Given the description of an element on the screen output the (x, y) to click on. 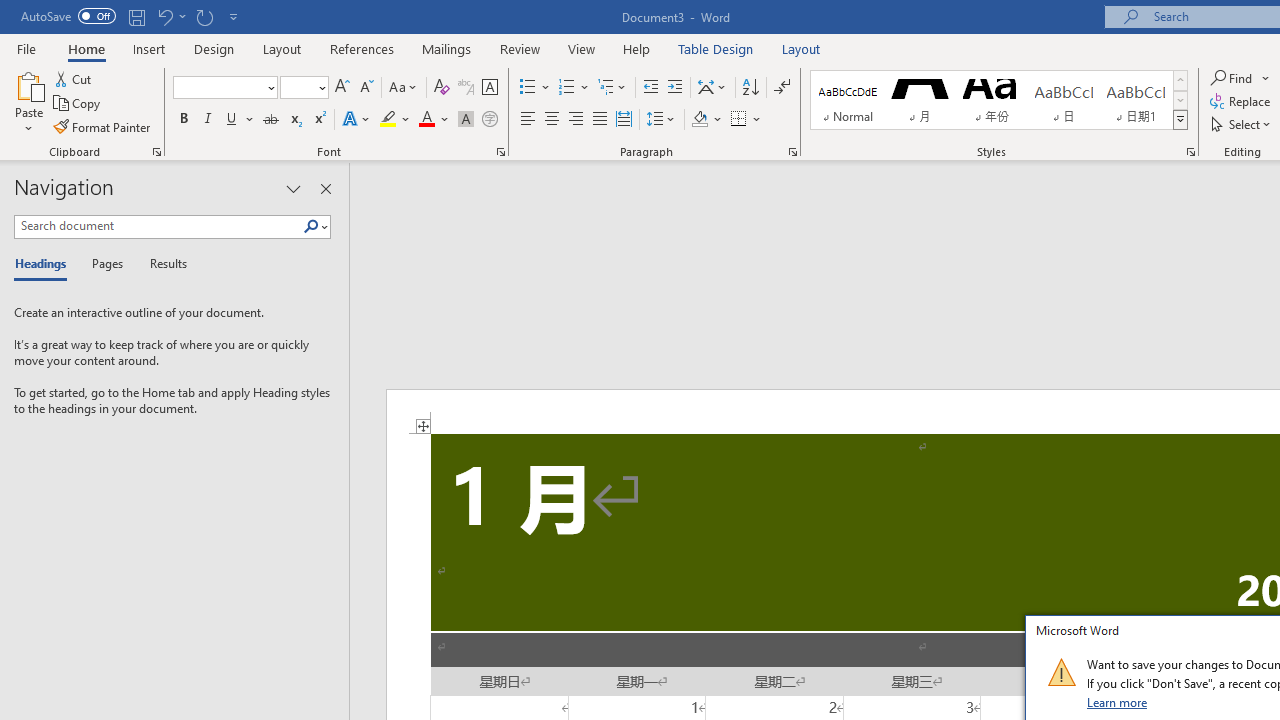
Copy (78, 103)
Shading (706, 119)
Office Clipboard... (156, 151)
Italic (207, 119)
Search document (157, 226)
Change Case (404, 87)
Increase Indent (675, 87)
Design (214, 48)
